Given the description of an element on the screen output the (x, y) to click on. 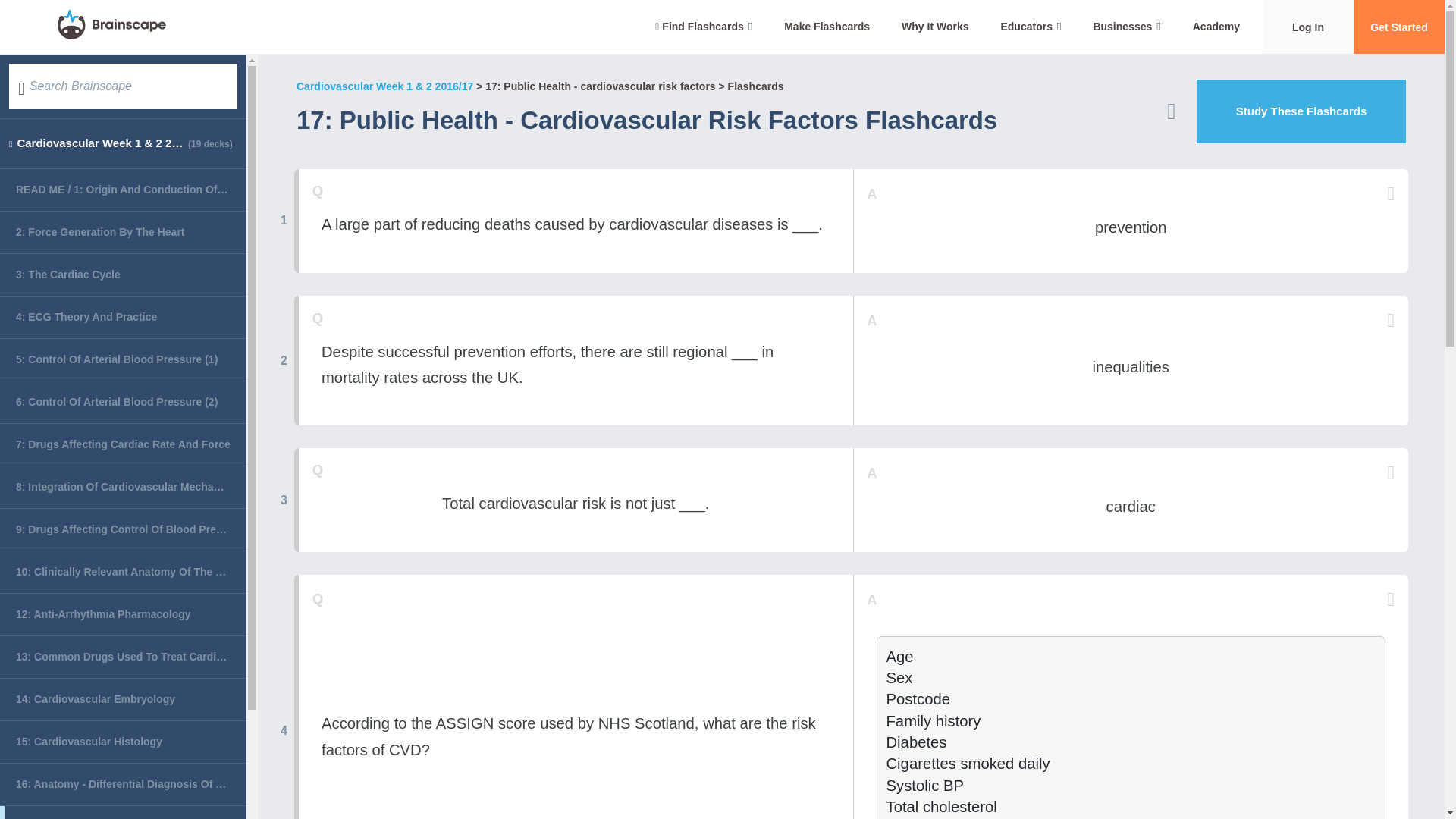
Ross Wilson (1012, 124)
Find Flashcards (703, 27)
Why It Works (934, 27)
2: Force Generation By The Heart (123, 232)
Brainscape (111, 26)
